Given the description of an element on the screen output the (x, y) to click on. 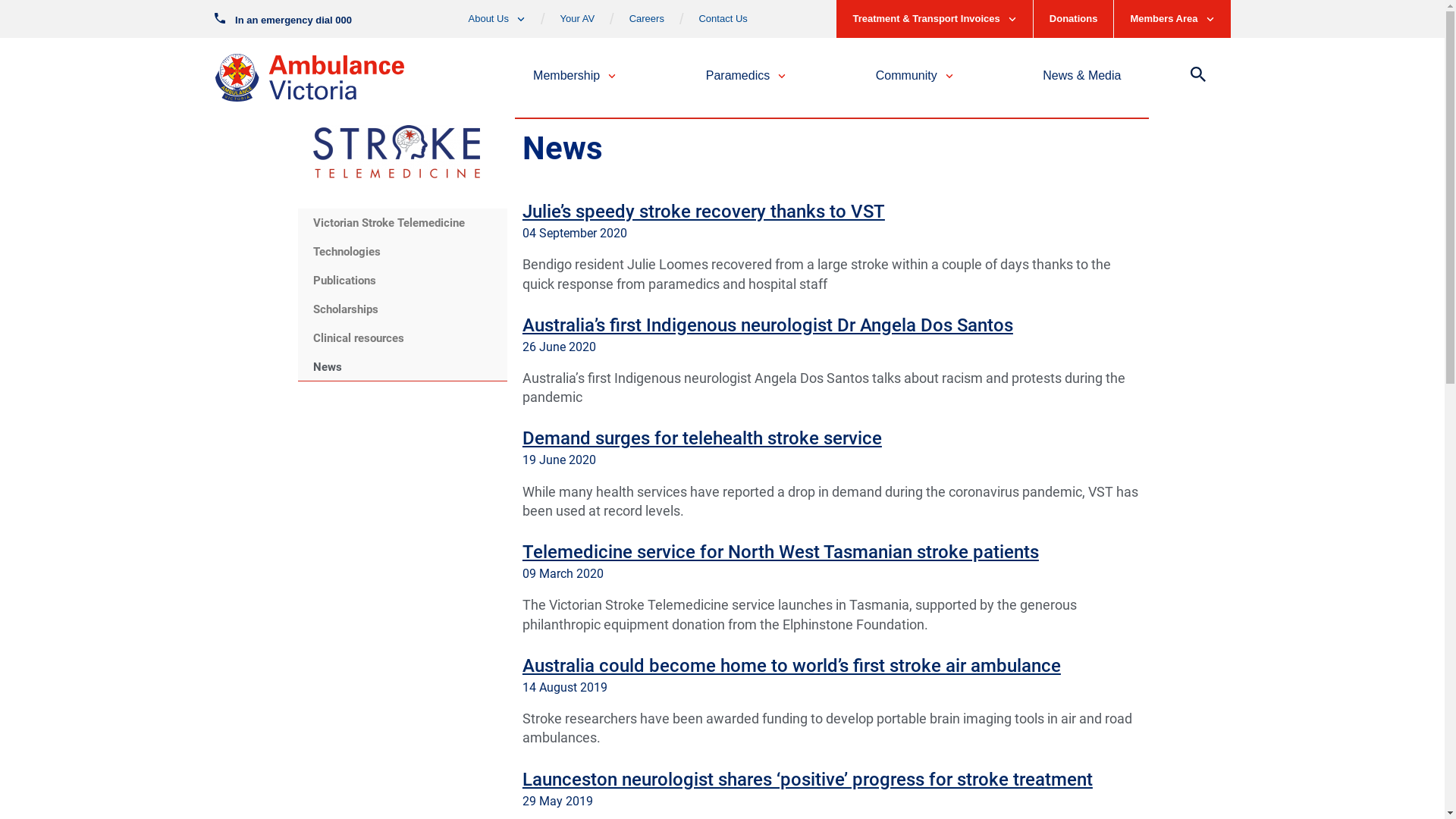
About Us Element type: text (496, 19)
News & Media Element type: text (1081, 77)
In an emergency dial 000 Element type: text (282, 18)
vst_logo_20220624 Element type: hover (395, 151)
News Element type: text (401, 366)
Community Element type: text (914, 77)
Membership Element type: text (574, 77)
Scholarships Element type: text (401, 308)
Victorian Stroke Telemedicine Element type: text (401, 222)
Members Area Element type: text (1171, 18)
Publications Element type: text (401, 280)
Your AV Element type: text (577, 19)
Careers Element type: text (646, 19)
Treatment & Transport Invoices Element type: text (934, 18)
Demand surges for telehealth stroke service Element type: text (701, 437)
Paramedics Element type: text (746, 77)
Donations Element type: text (1073, 18)
Clinical resources Element type: text (401, 337)
Technologies Element type: text (401, 251)
Contact Us Element type: text (722, 19)
